Given the description of an element on the screen output the (x, y) to click on. 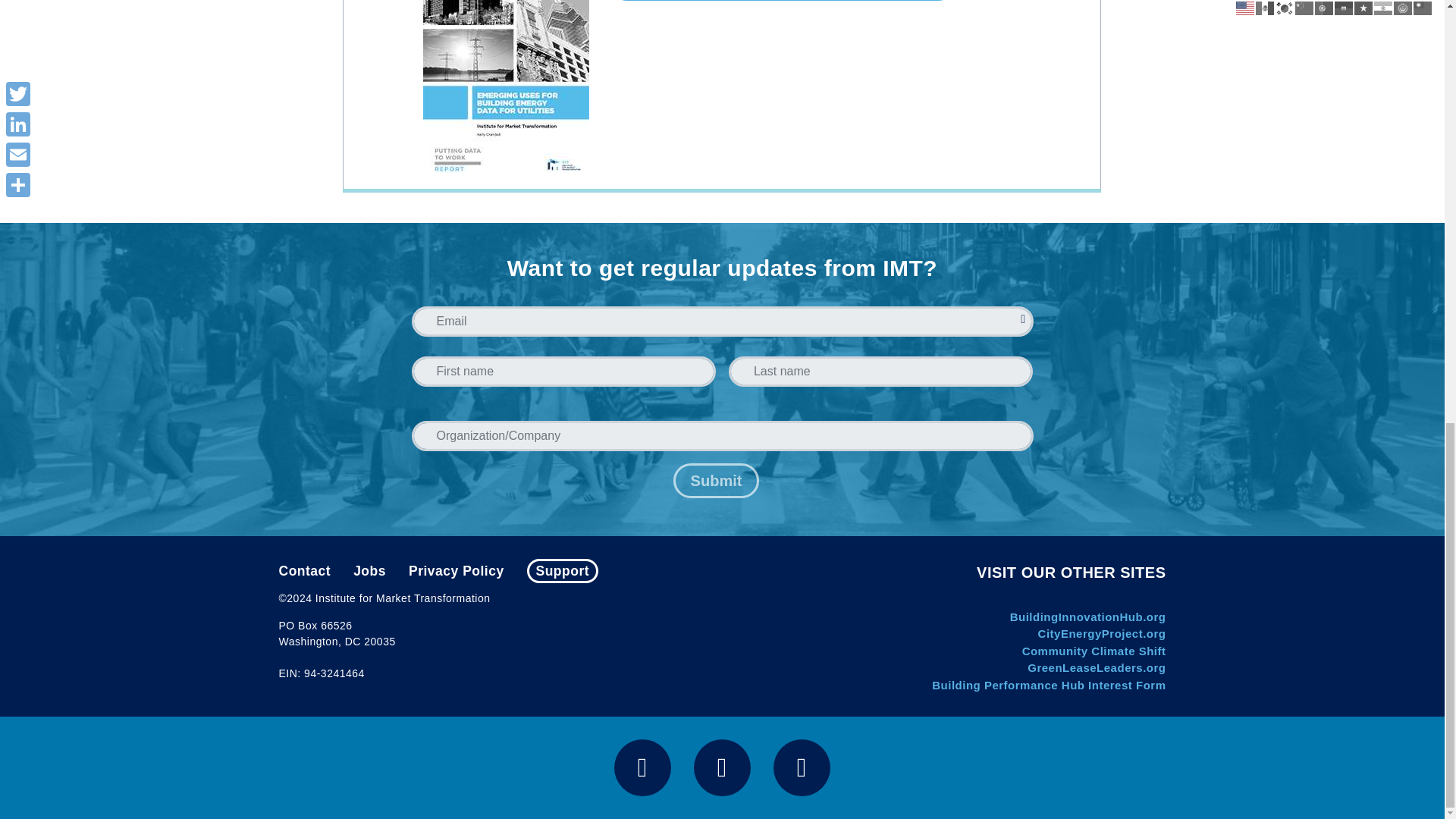
Submit (716, 480)
